Given the description of an element on the screen output the (x, y) to click on. 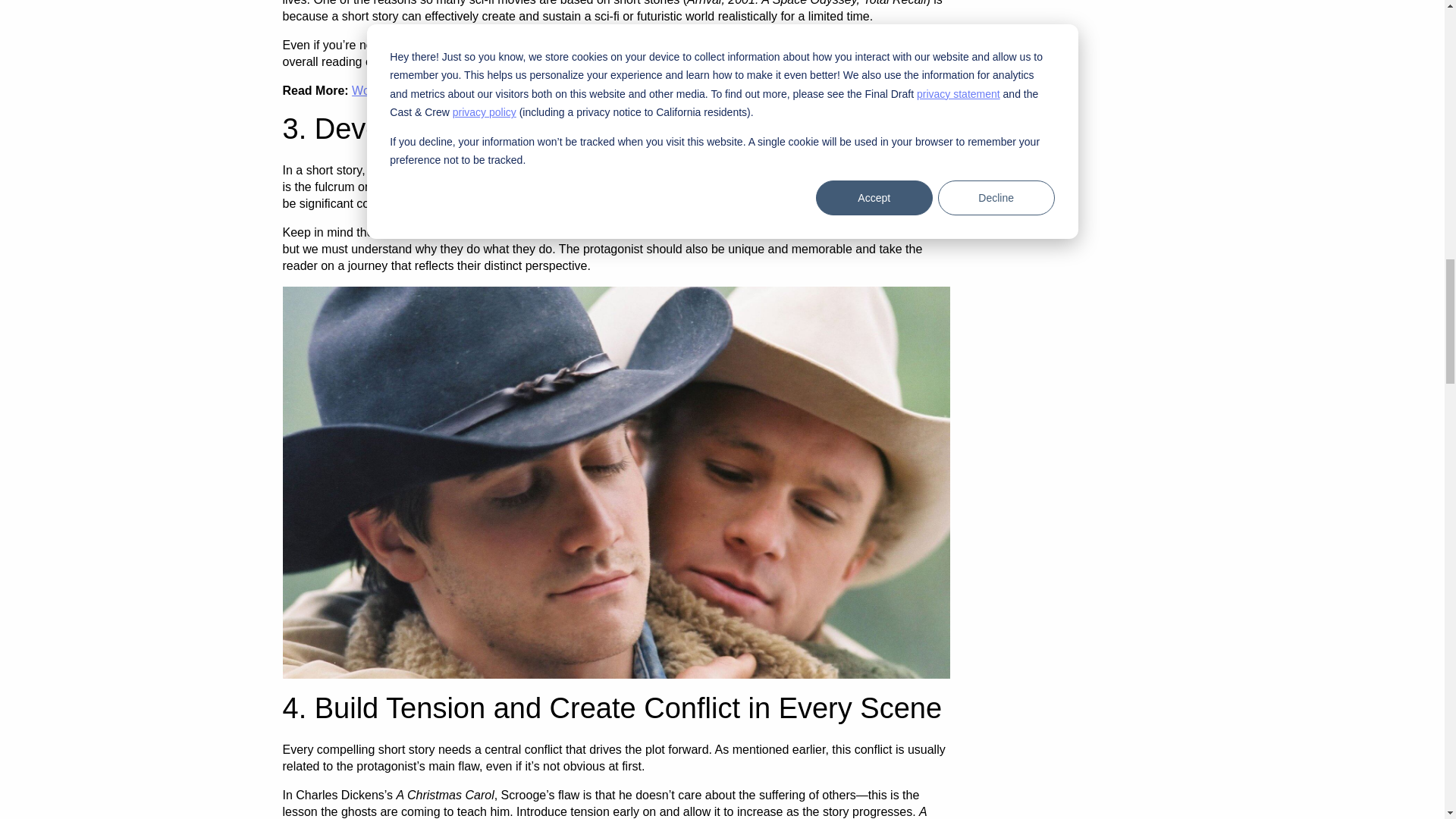
Worldbuilding 101 Using the Star Wars Model (474, 90)
